Given the description of an element on the screen output the (x, y) to click on. 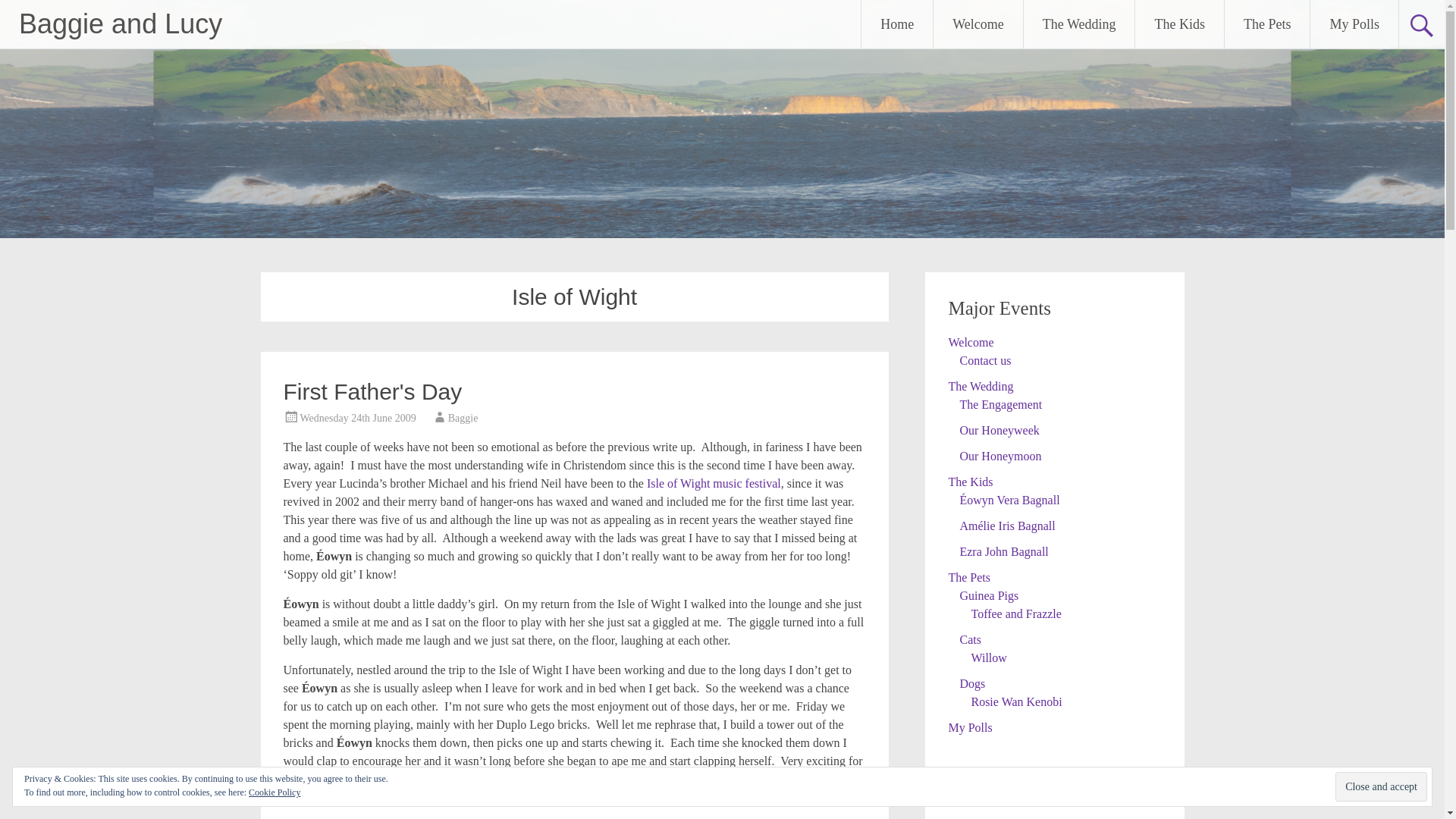
Isle of Wight music festival (713, 482)
Wednesday 24th June 2009 (357, 418)
The Kids (1179, 24)
First Father's Day (373, 391)
The Wedding (1079, 24)
Close and accept (1380, 786)
Baggie and Lucy (120, 23)
Baggie (463, 418)
My Polls (1353, 24)
The Pets (1267, 24)
Home (897, 24)
Welcome (978, 24)
Baggie and Lucy (120, 23)
